Given the description of an element on the screen output the (x, y) to click on. 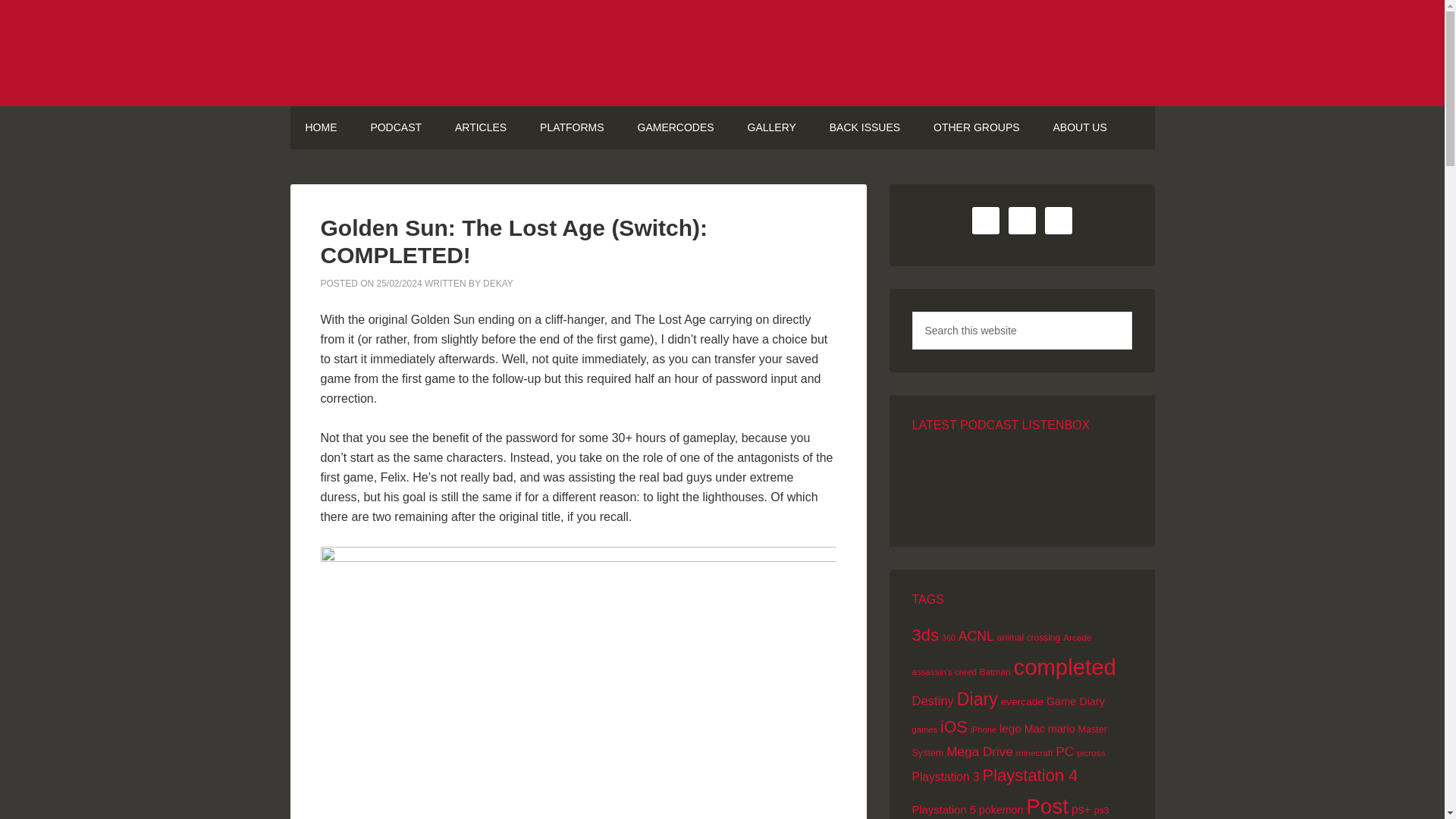
DEKAY (498, 283)
PODCAST (395, 127)
PLATFORMS (572, 127)
ARTICLES (480, 127)
UGVM (721, 52)
BACK ISSUES (864, 127)
ABOUT US (1078, 127)
OTHER GROUPS (976, 127)
HOME (320, 127)
GAMERCODES (675, 127)
GALLERY (771, 127)
